Given the description of an element on the screen output the (x, y) to click on. 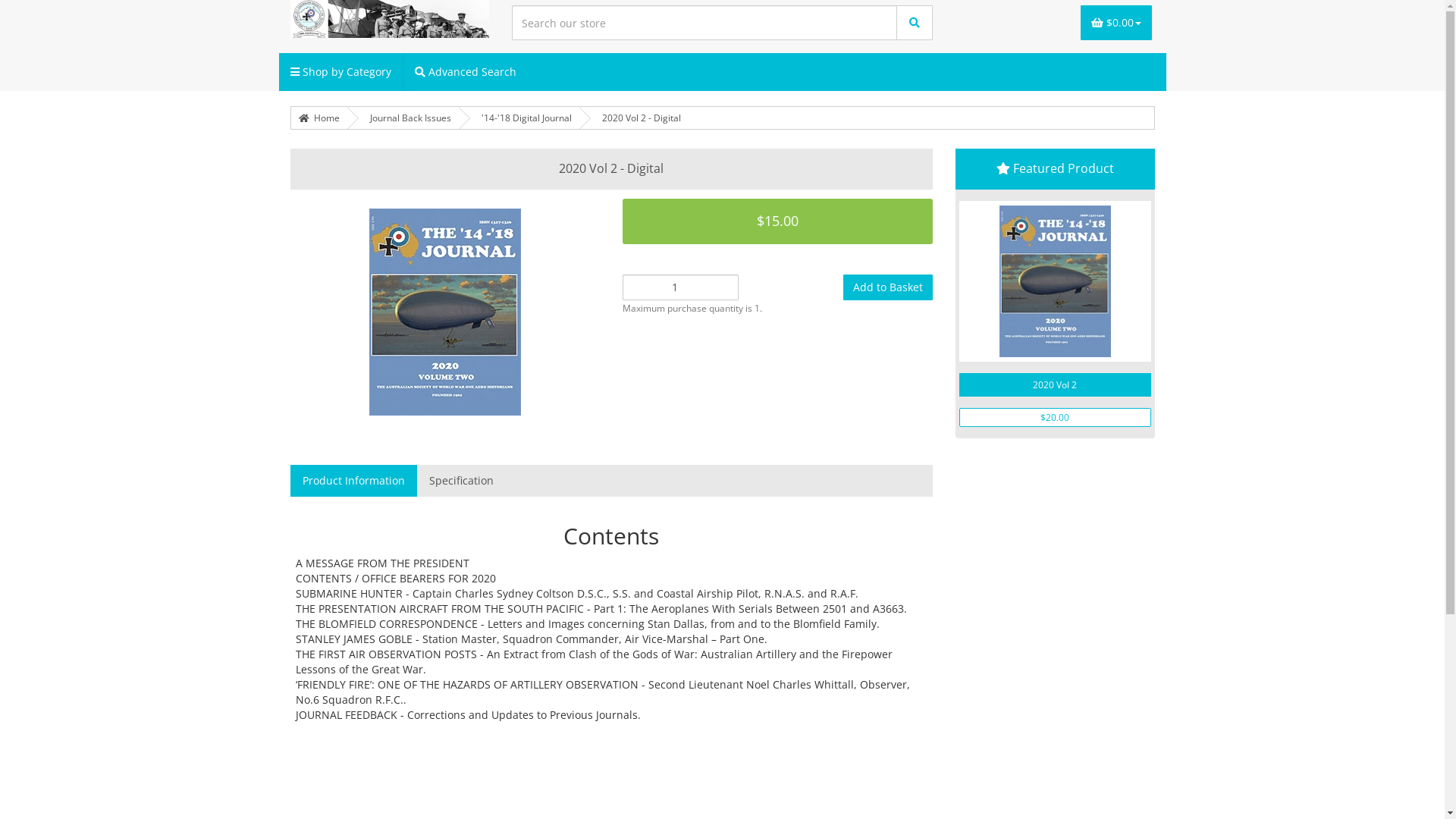
2020 Vol 2 Element type: text (1055, 384)
2020 Vol 2 Element type: hover (1054, 281)
Journal Back Issues Element type: text (410, 117)
Product Information Element type: text (352, 480)
Specification Element type: text (461, 480)
Advanced Search Element type: text (465, 72)
Search Element type: text (914, 22)
 Home Element type: text (319, 117)
Add to Basket Element type: text (887, 287)
Shop by Category Element type: text (341, 72)
2020 Vol 2 - Digital Element type: text (641, 117)
$0.00 Element type: text (1115, 22)
'14-'18 Digital Journal Element type: text (525, 117)
